Given the description of an element on the screen output the (x, y) to click on. 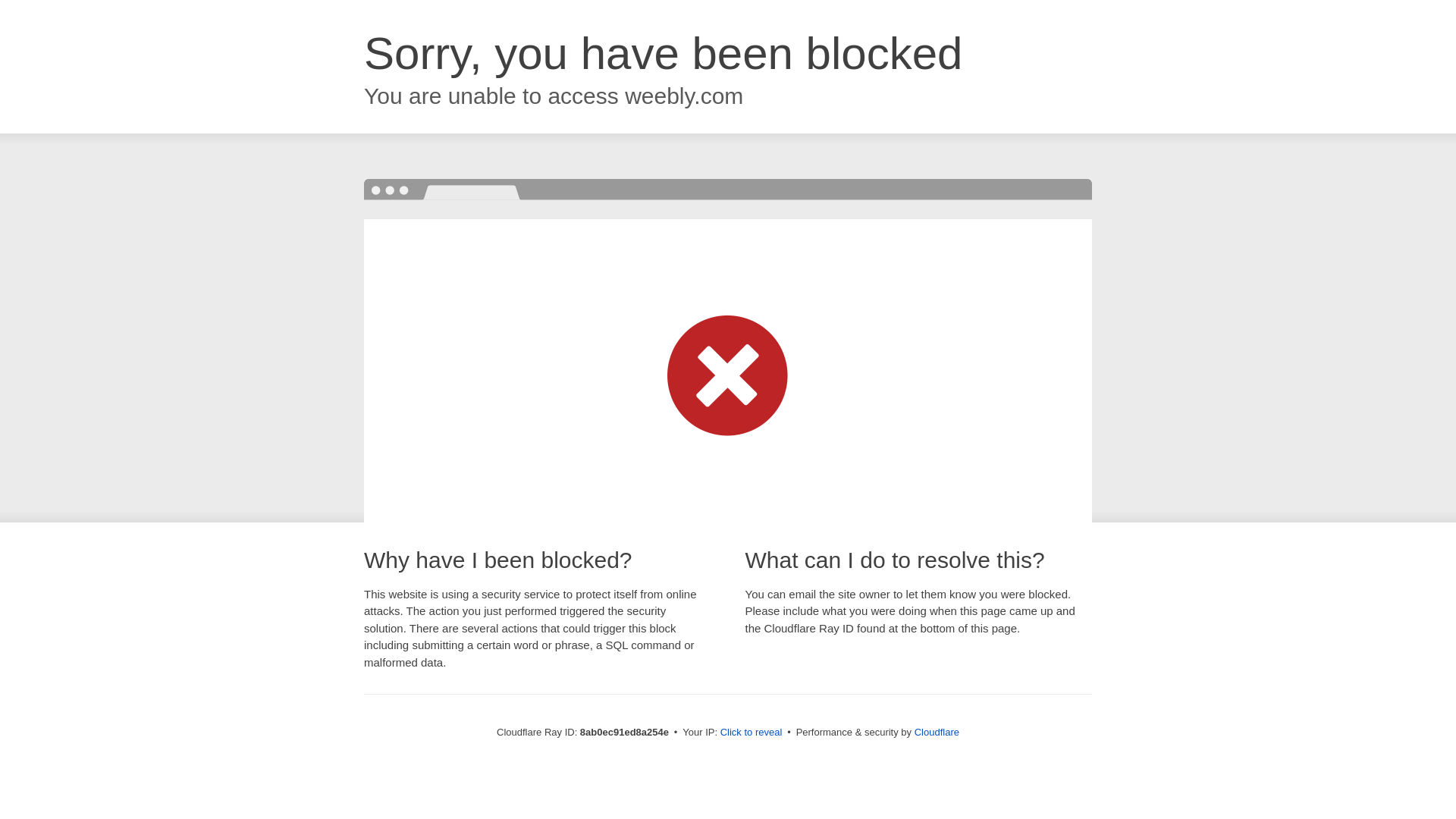
Cloudflare (936, 731)
Click to reveal (751, 732)
